Given the description of an element on the screen output the (x, y) to click on. 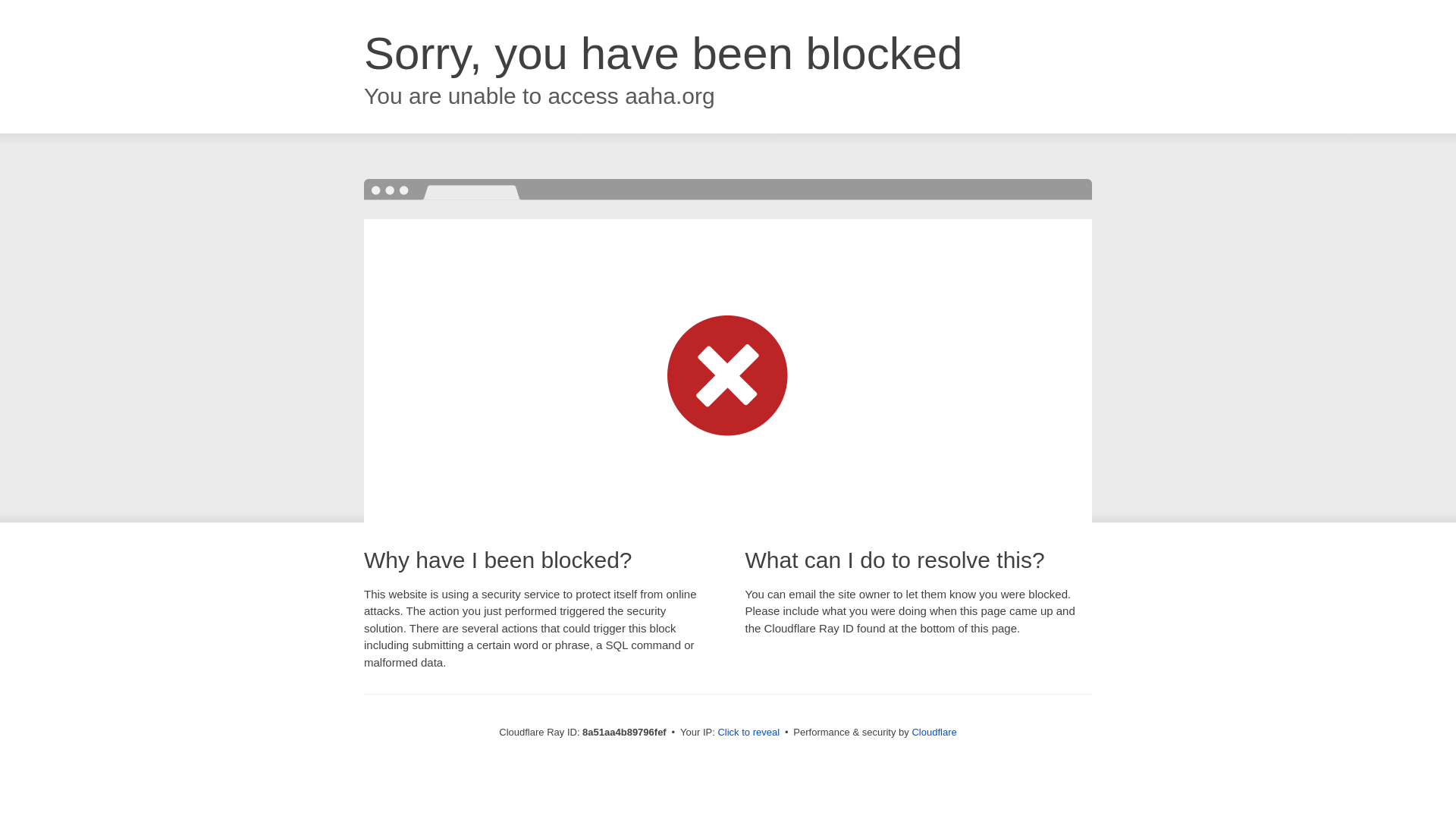
Cloudflare (933, 731)
Click to reveal (747, 732)
